Given the description of an element on the screen output the (x, y) to click on. 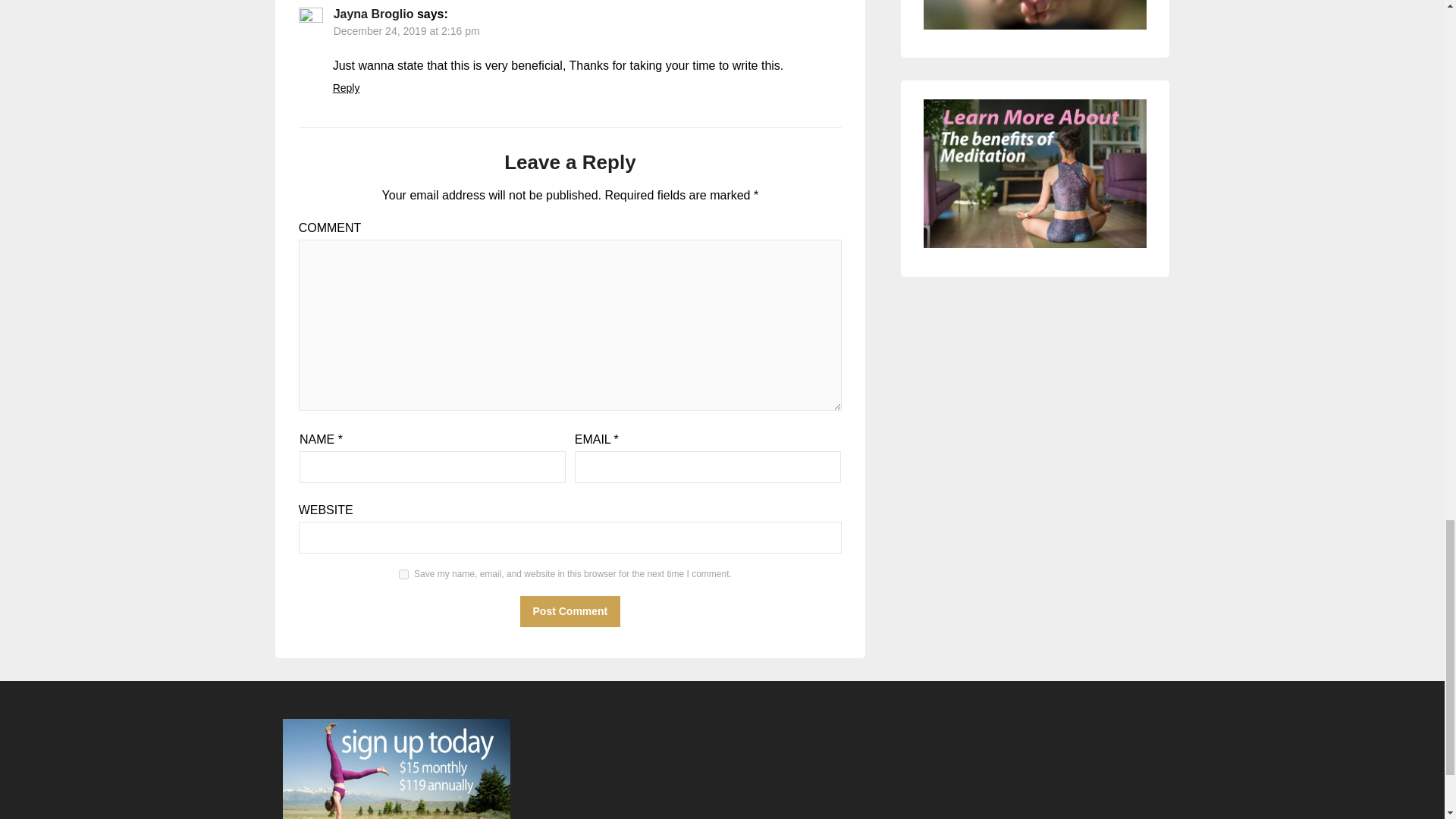
yes (403, 574)
Jayna Broglio (373, 13)
Post Comment (570, 611)
Reply (346, 87)
Learn more about the benefits of meditation. (1035, 173)
Post Comment (570, 611)
December 24, 2019 at 2:16 pm (406, 30)
